Given the description of an element on the screen output the (x, y) to click on. 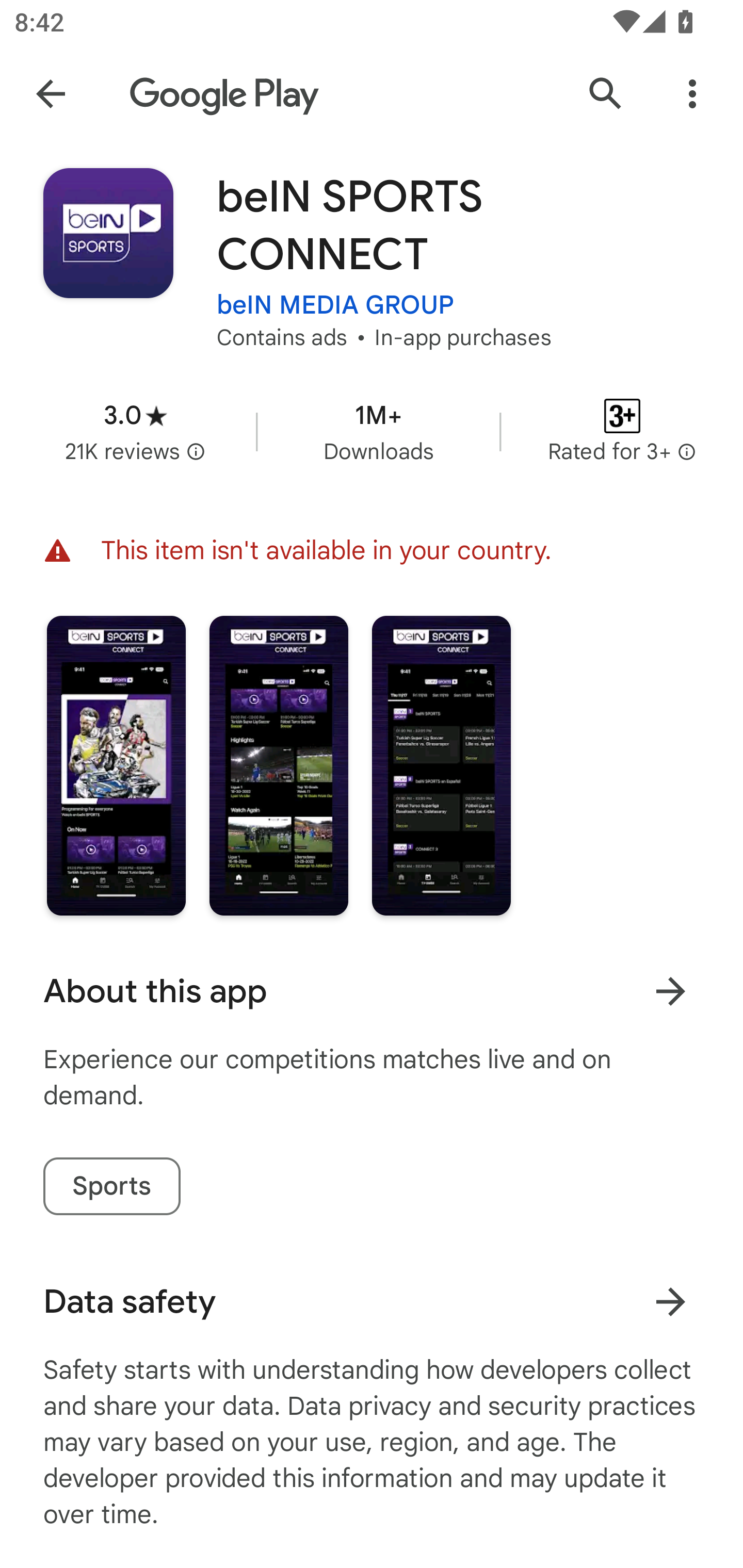
Navigate up (50, 93)
Search Google Play (605, 93)
More Options (692, 93)
beIN MEDIA GROUP (334, 304)
Average rating 3.0 stars in 21 thousand reviews (135, 431)
Content rating Rated for 3+ (622, 431)
Screenshot "1" of "3" (115, 765)
Screenshot "2" of "3" (278, 765)
Screenshot "3" of "3" (441, 765)
About this app Learn more About this app (371, 990)
Learn more About this app (670, 991)
Sports tag (111, 1186)
Data safety Learn more about data safety (371, 1301)
Learn more about data safety (670, 1302)
